Given the description of an element on the screen output the (x, y) to click on. 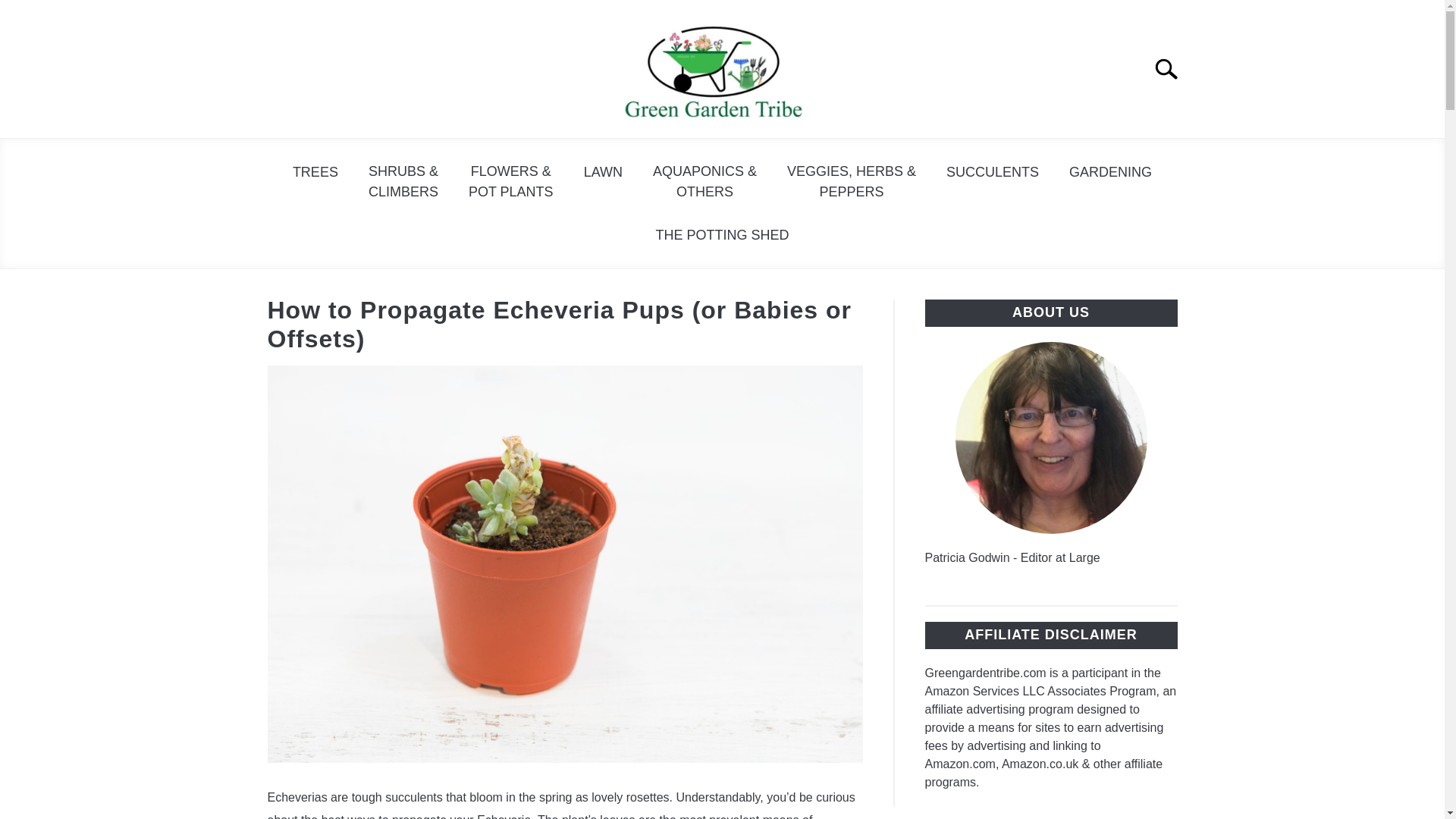
TREES (315, 172)
SUCCULENTS (992, 172)
LAWN (603, 172)
GARDENING (1110, 172)
THE POTTING SHED (721, 235)
Search (1172, 68)
